Given the description of an element on the screen output the (x, y) to click on. 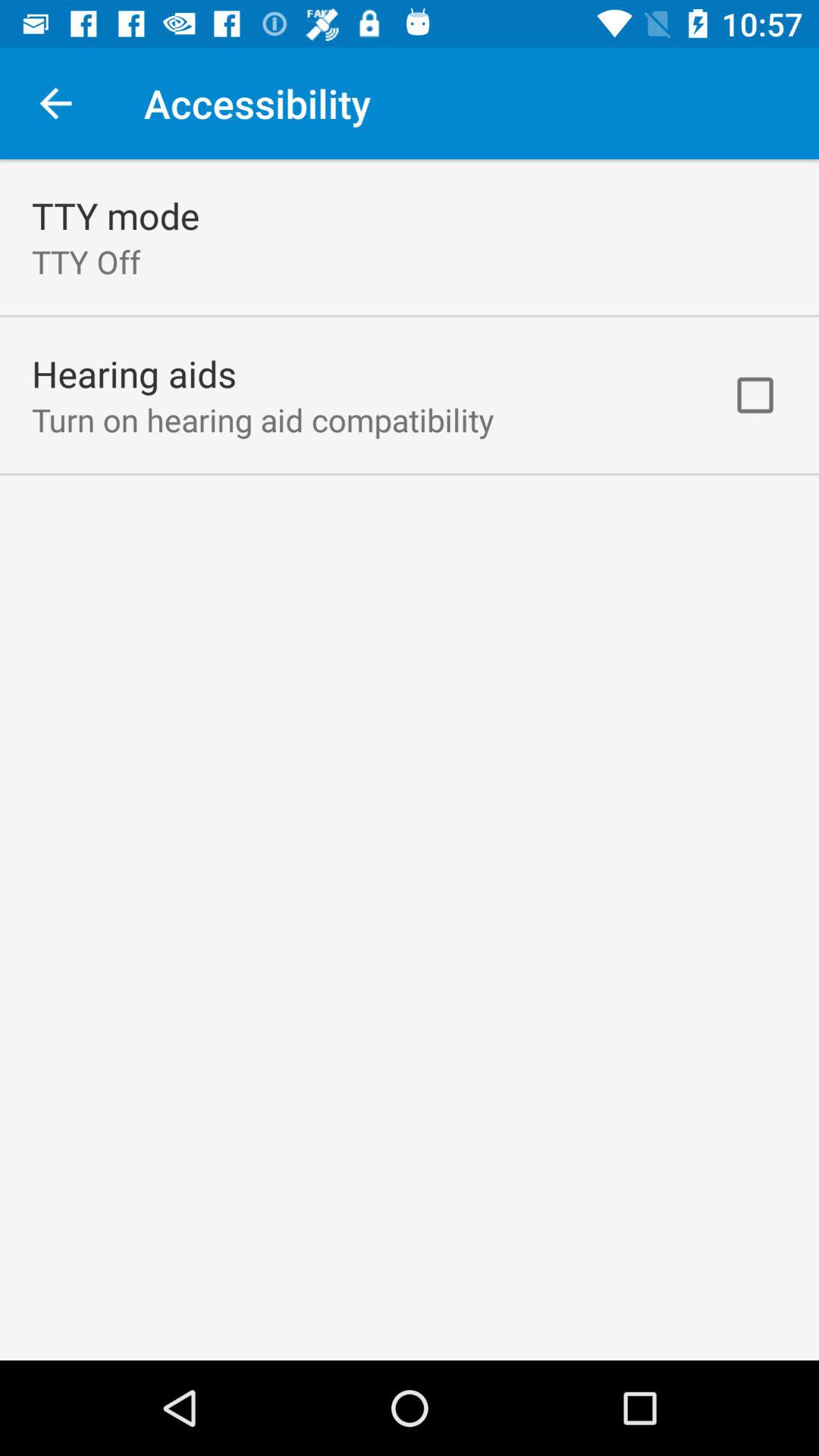
turn on hearing aids (133, 373)
